Given the description of an element on the screen output the (x, y) to click on. 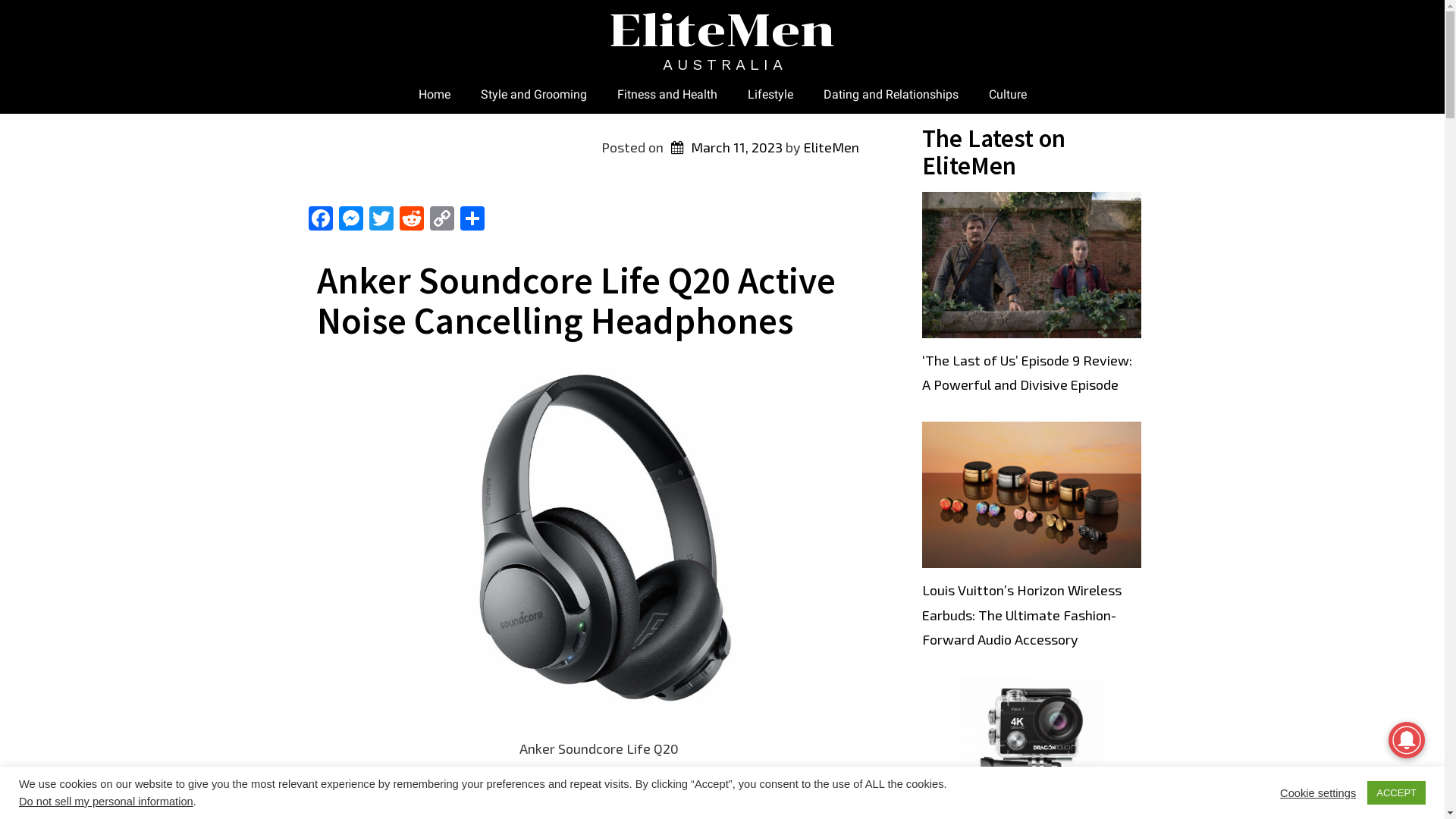
ACCEPT Element type: text (1396, 792)
Fitness and Health Element type: text (667, 94)
Share Element type: text (471, 219)
Cookie settings Element type: text (1317, 792)
Twitter Element type: text (380, 219)
Lifestyle Element type: text (770, 94)
Facebook Element type: text (319, 219)
Reddit Element type: text (410, 219)
March 11, 2023 Element type: text (723, 146)
Style and Grooming Element type: text (533, 94)
Home Element type: text (434, 94)
Messenger Element type: text (350, 219)
Culture Element type: text (1007, 94)
Dating and Relationships Element type: text (890, 94)
EliteMen Element type: text (831, 146)
Do not sell my personal information Element type: text (105, 801)
EliteMen Element type: text (721, 30)
Copy Link Element type: text (441, 219)
